Given the description of an element on the screen output the (x, y) to click on. 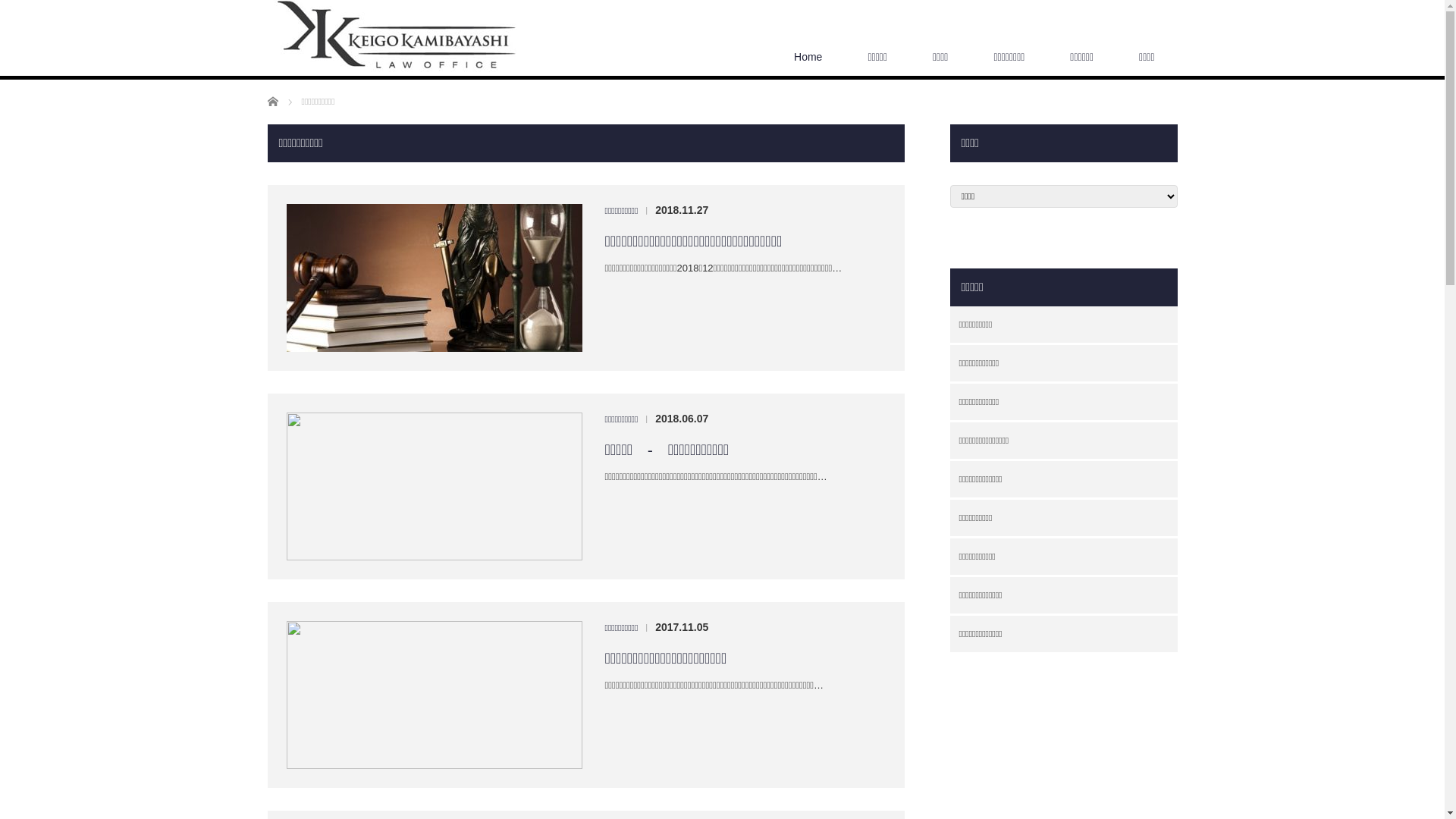
Keigo Kamibayashi Law Office Element type: hover (399, 36)
Keigo Kamibayashi Law Office Element type: hover (399, 36)
Home Element type: text (807, 56)
